Given the description of an element on the screen output the (x, y) to click on. 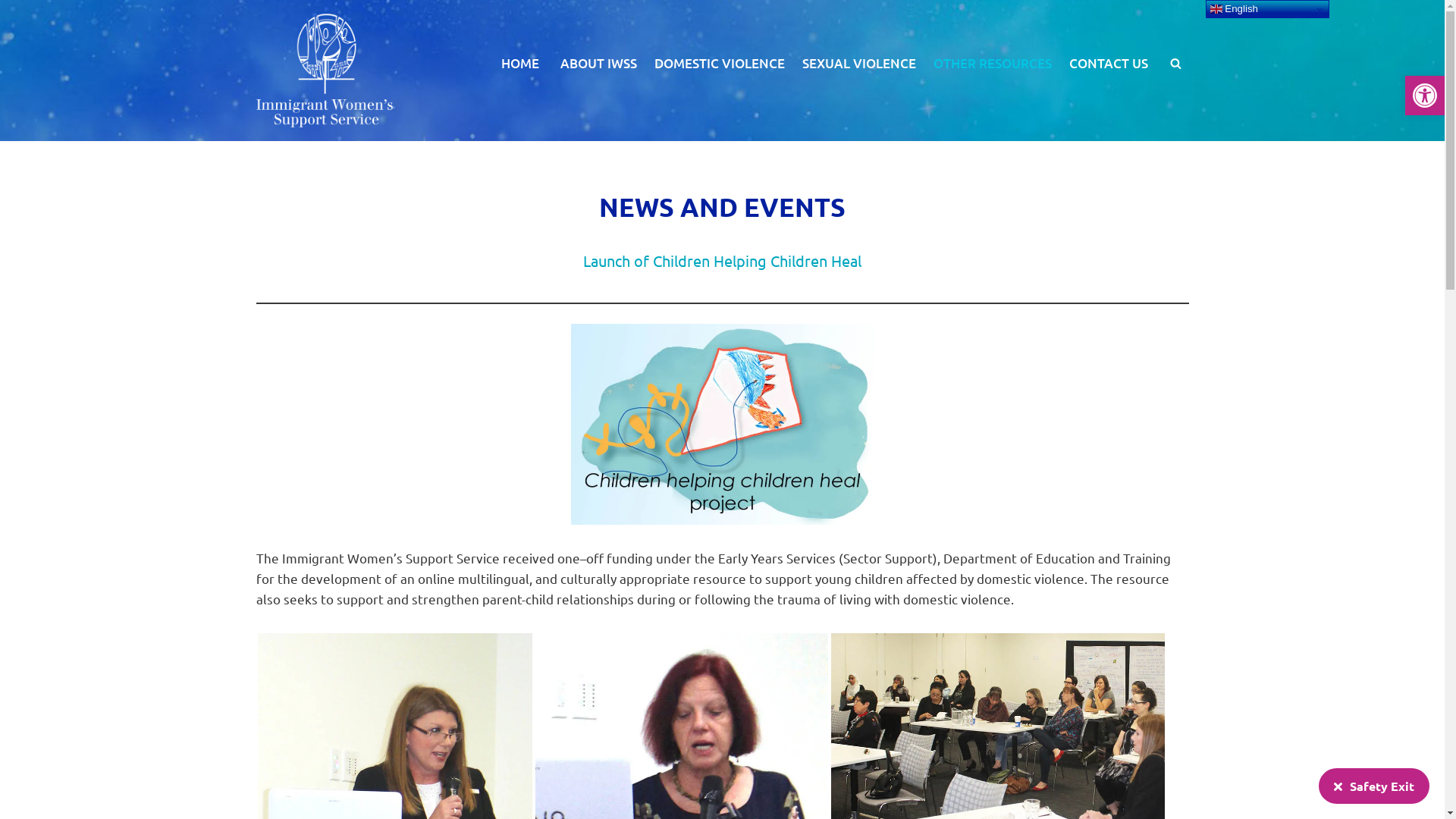
SEXUAL VIOLENCE Element type: text (859, 62)
Skip to content Element type: text (11, 31)
English Element type: text (1267, 9)
OTHER RESOURCES Element type: text (991, 62)
Safety Exit Element type: text (1373, 785)
ABOUT IWSS Element type: text (597, 62)
Open toolbar
Accessibility Tools Element type: text (1424, 95)
HOME Element type: text (519, 62)
DOMESTIC VIOLENCE Element type: text (718, 62)
CONTACT US Element type: text (1108, 62)
